Given the description of an element on the screen output the (x, y) to click on. 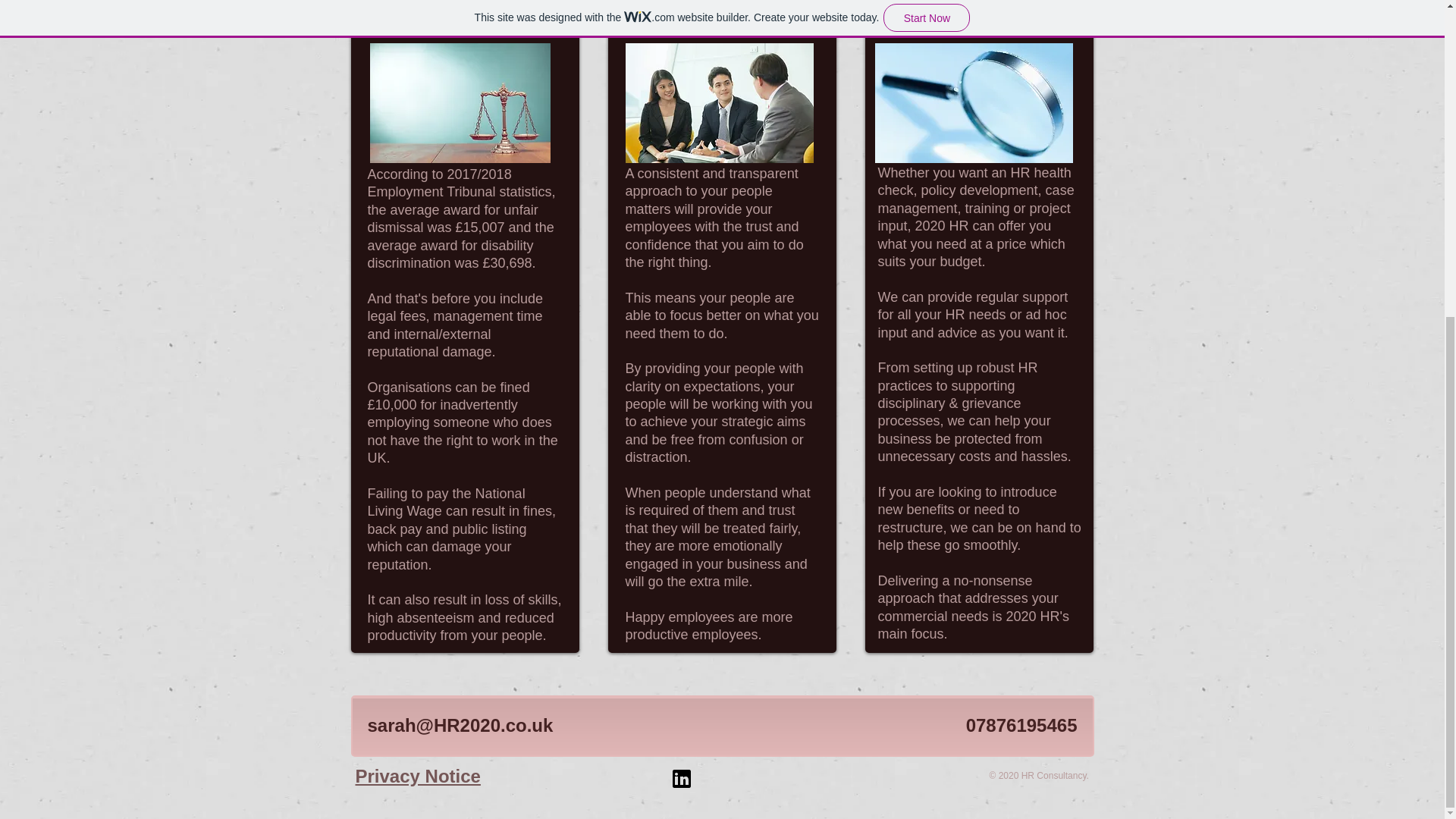
Magnifying Glass (974, 102)
Privacy Notice (417, 775)
Justice (459, 102)
Team Meeting (718, 102)
